Given the description of an element on the screen output the (x, y) to click on. 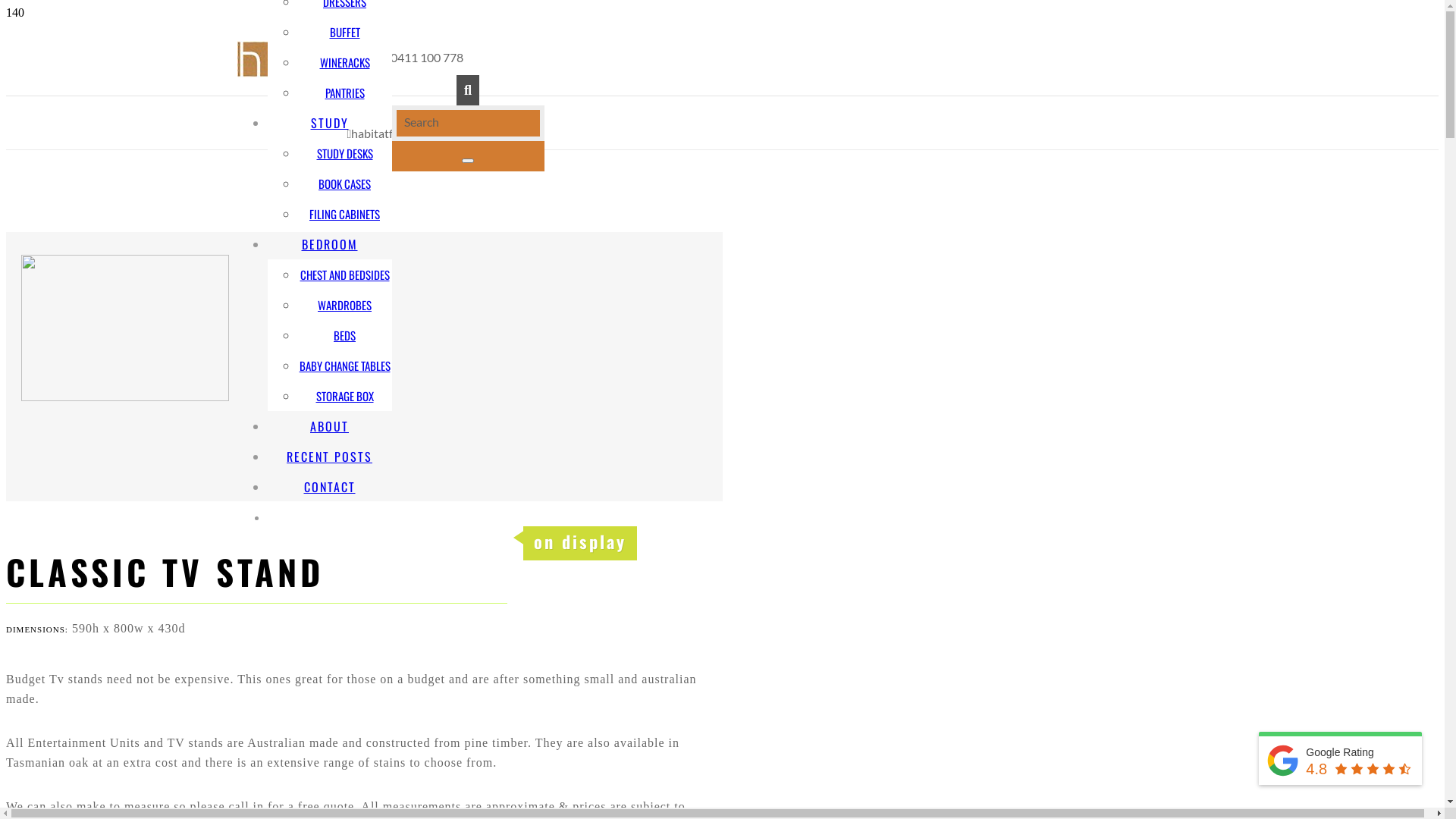
BOOK CASES Element type: text (344, 183)
ABOUT Element type: text (329, 426)
RECENT POSTS Element type: text (329, 456)
PANTRIES Element type: text (344, 92)
STORAGE BOX Element type: text (344, 395)
STUDY DESKS Element type: text (344, 152)
WINERACKS Element type: text (345, 61)
WARDROBES Element type: text (344, 304)
BEDROOM Element type: text (329, 244)
BABY CHANGE TABLES Element type: text (343, 365)
BUFFET Element type: text (344, 31)
BEDS Element type: text (344, 334)
FILING CABINETS Element type: text (344, 213)
STUDY Element type: text (329, 122)
CHEST AND BEDSIDES Element type: text (344, 274)
CONTACT Element type: text (329, 486)
